Given the description of an element on the screen output the (x, y) to click on. 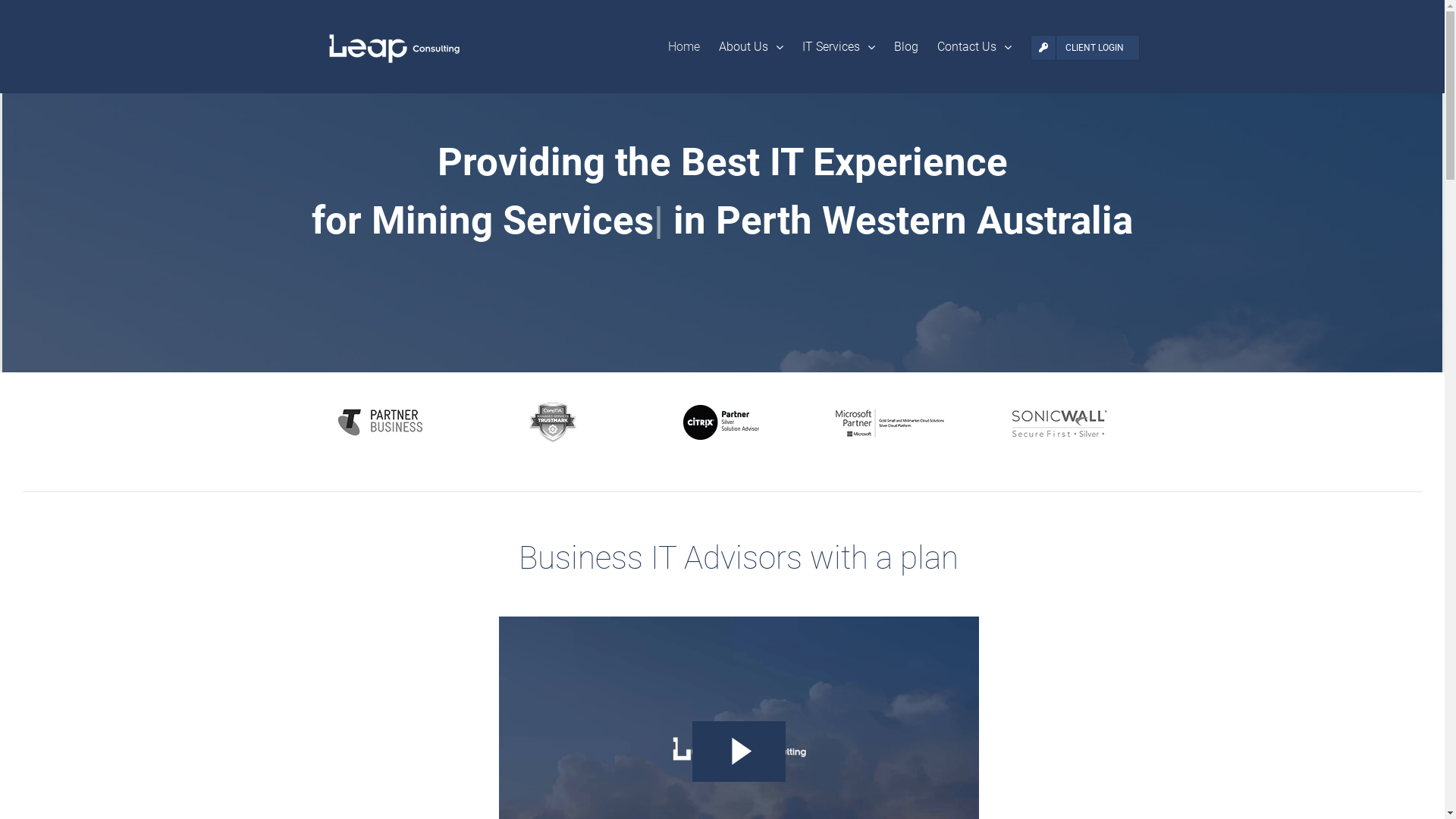
Home Element type: text (683, 46)
Blog Element type: text (905, 46)
CLIENT LOGIN Element type: text (1084, 46)
IT Services Element type: text (838, 46)
Contact Us Element type: text (974, 46)
About Us Element type: text (750, 46)
